Given the description of an element on the screen output the (x, y) to click on. 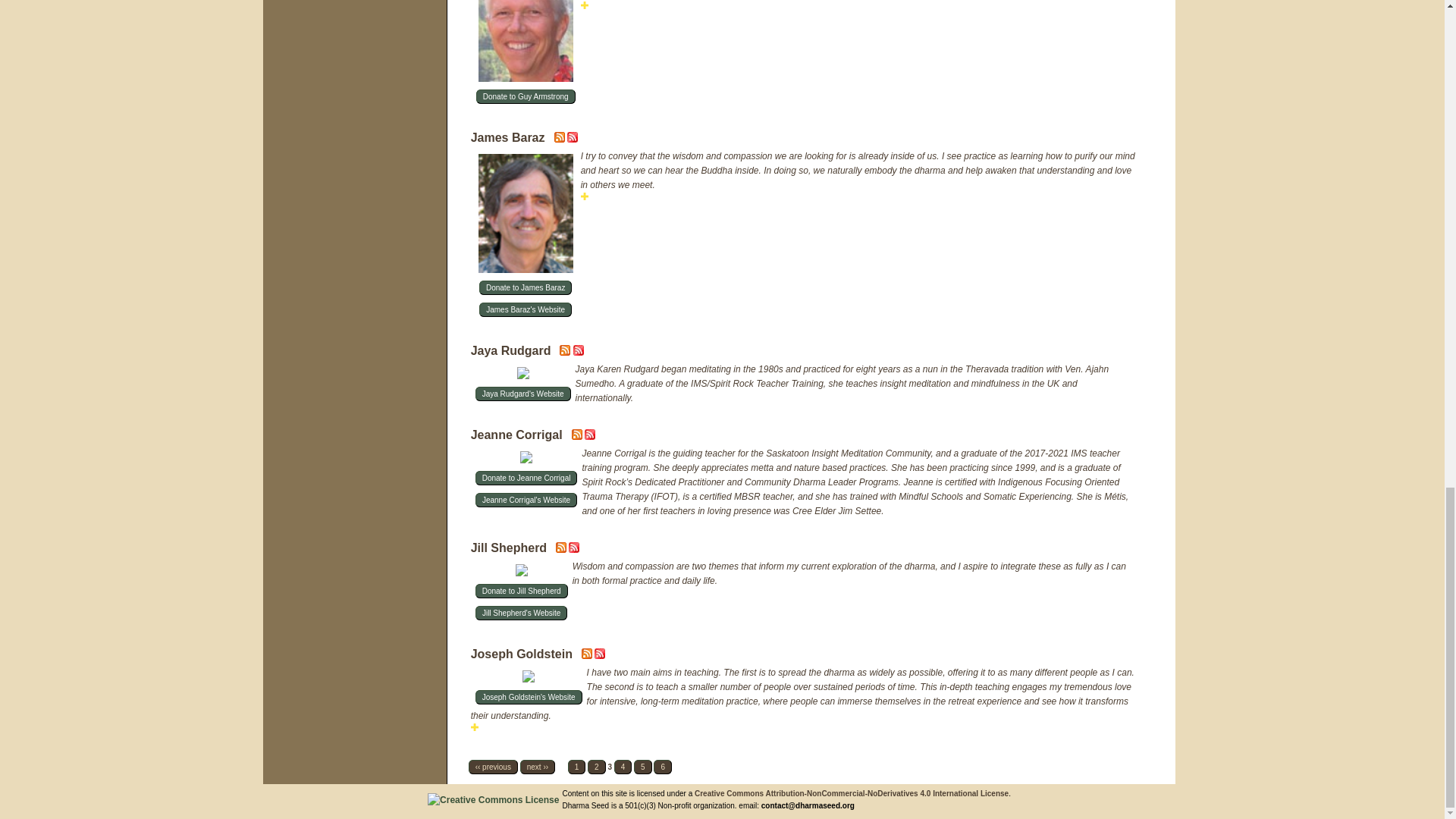
Joseph Goldstein's most recent talks (587, 655)
All 4 of Jaya Rudgard's talks (578, 352)
Jaya Rudgard's most recent talks (565, 352)
Jeanne Corrigal's most recent talks (578, 436)
All 23 of Jill Shepherd's talks (574, 549)
James Baraz's most recent talks (560, 139)
Jill Shepherd's most recent talks (562, 549)
All 10 of Jeanne Corrigal's talks (590, 436)
All 9 of James Baraz's talks (572, 139)
